Given the description of an element on the screen output the (x, y) to click on. 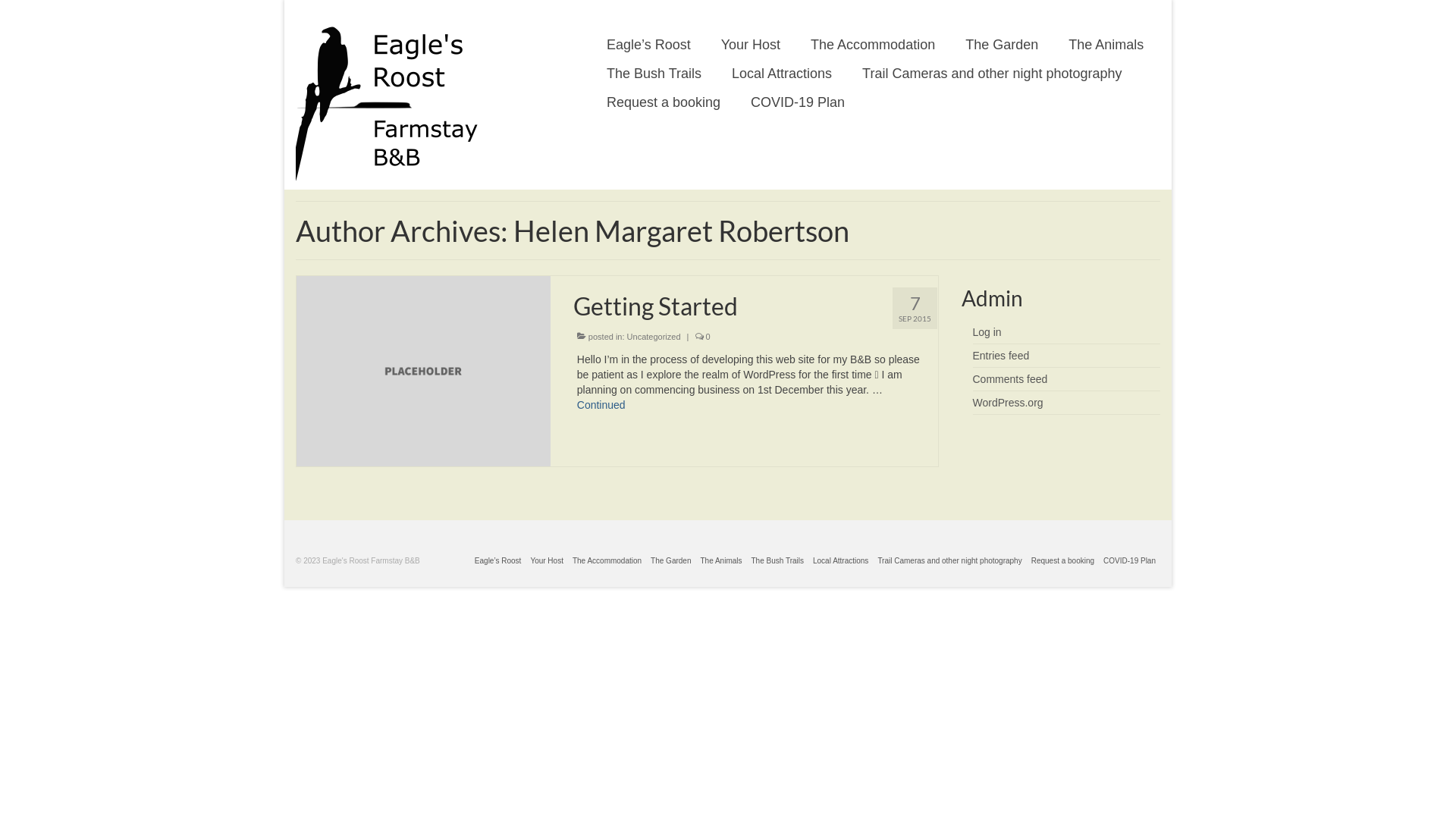
The Bush Trails Element type: text (653, 73)
Entries feed Element type: text (1000, 355)
Your Host Element type: text (546, 560)
Continued Element type: text (601, 404)
The Animals Element type: text (1105, 44)
The Garden Element type: text (1001, 44)
Local Attractions Element type: text (840, 560)
Request a booking Element type: text (663, 101)
The Bush Trails Element type: text (777, 560)
Comments feed Element type: text (1009, 379)
Trail Cameras and other night photography Element type: text (992, 73)
Getting Started Element type: hover (423, 370)
COVID-19 Plan Element type: text (797, 101)
The Accommodation Element type: text (872, 44)
The Garden Element type: text (670, 560)
Getting Started Element type: text (755, 306)
Your Host Element type: text (750, 44)
WordPress.org Element type: text (1007, 402)
Uncategorized Element type: text (653, 336)
Local Attractions Element type: text (781, 73)
COVID-19 Plan Element type: text (1129, 560)
The Animals Element type: text (720, 560)
Trail Cameras and other night photography Element type: text (949, 560)
Request a booking Element type: text (1062, 560)
The Accommodation Element type: text (606, 560)
Log in Element type: text (986, 332)
